Given the description of an element on the screen output the (x, y) to click on. 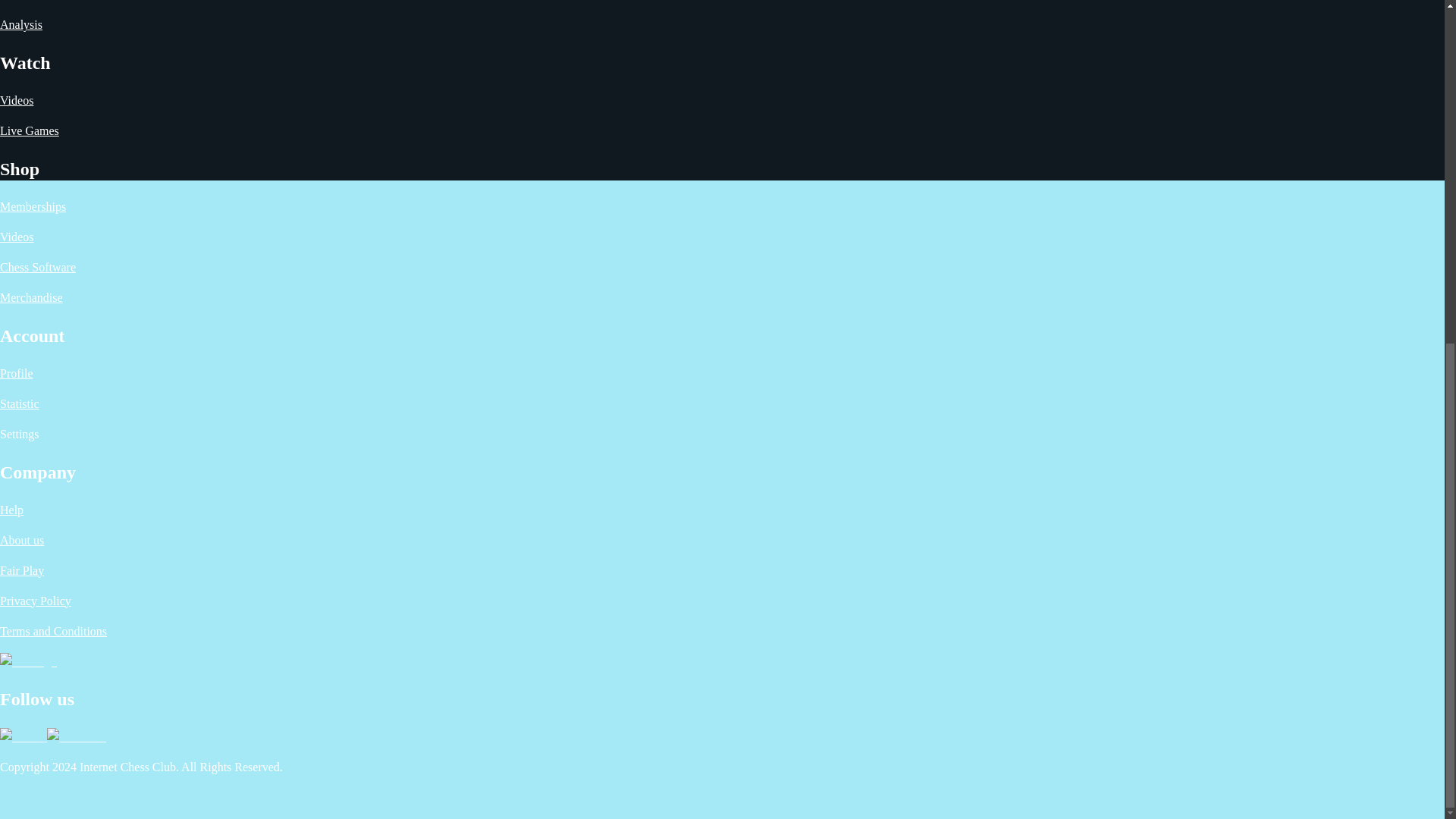
Merchandise (31, 297)
Profile (16, 373)
About us (21, 540)
Videos (16, 236)
Live Games (29, 130)
Statistic (19, 403)
Terms and Conditions (53, 631)
Memberships (32, 205)
Settings (19, 433)
Analysis (21, 24)
